Given the description of an element on the screen output the (x, y) to click on. 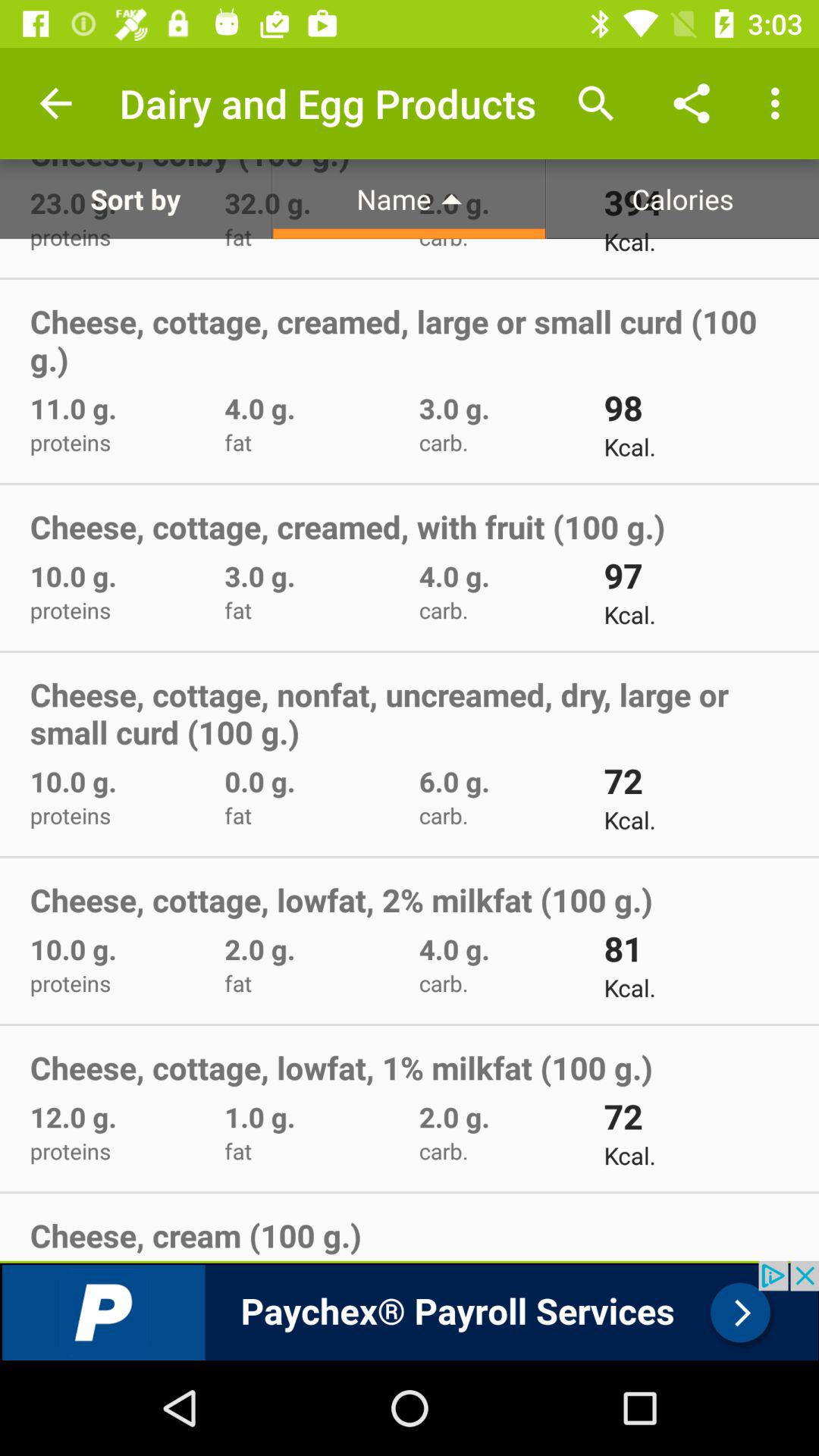
paychex (409, 1310)
